Given the description of an element on the screen output the (x, y) to click on. 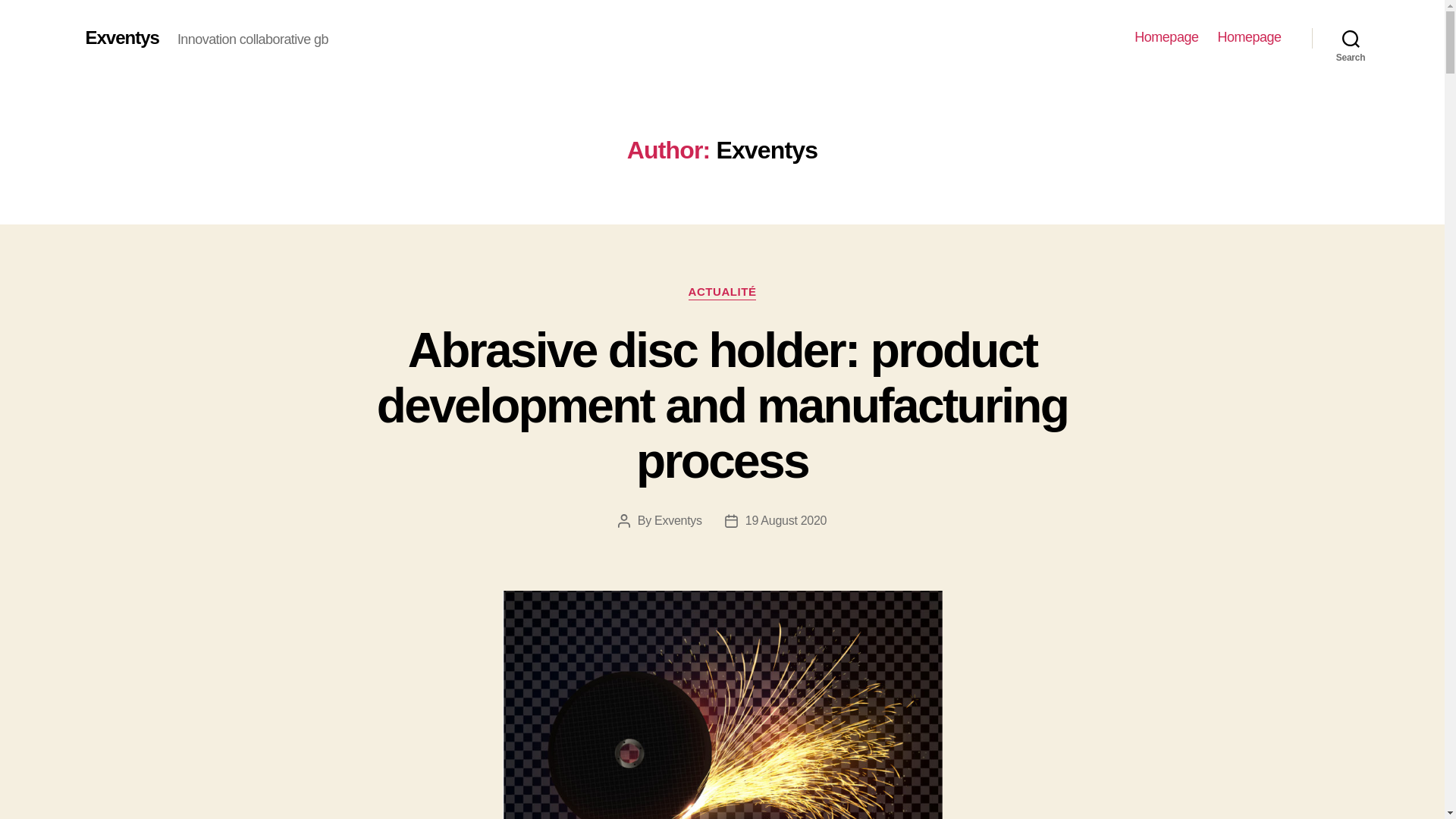
Search (1350, 37)
19 August 2020 (786, 520)
Homepage (1249, 37)
Exventys (121, 37)
Homepage (1166, 37)
Exventys (677, 520)
